Given the description of an element on the screen output the (x, y) to click on. 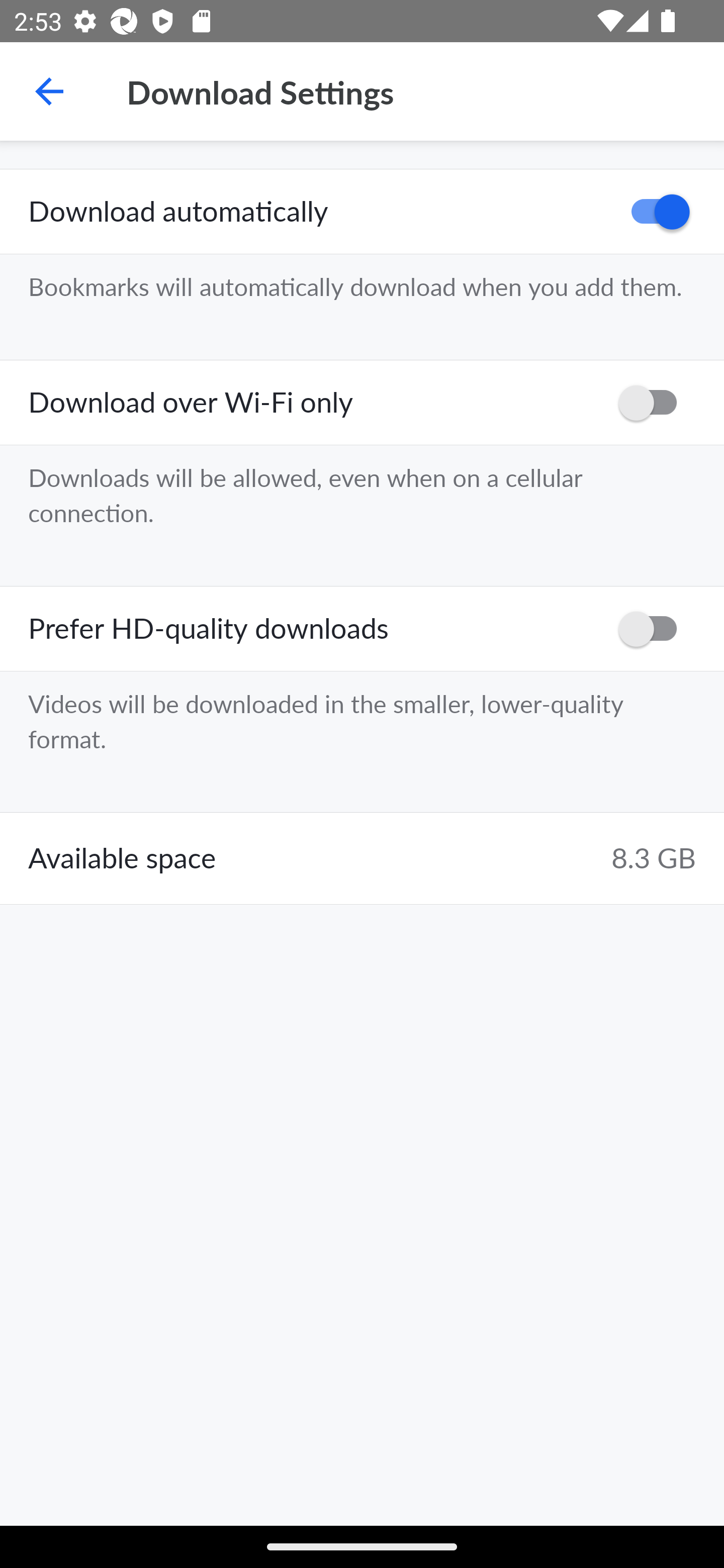
Navigate up (49, 91)
ON (653, 211)
OFF (653, 402)
OFF (653, 628)
